Given the description of an element on the screen output the (x, y) to click on. 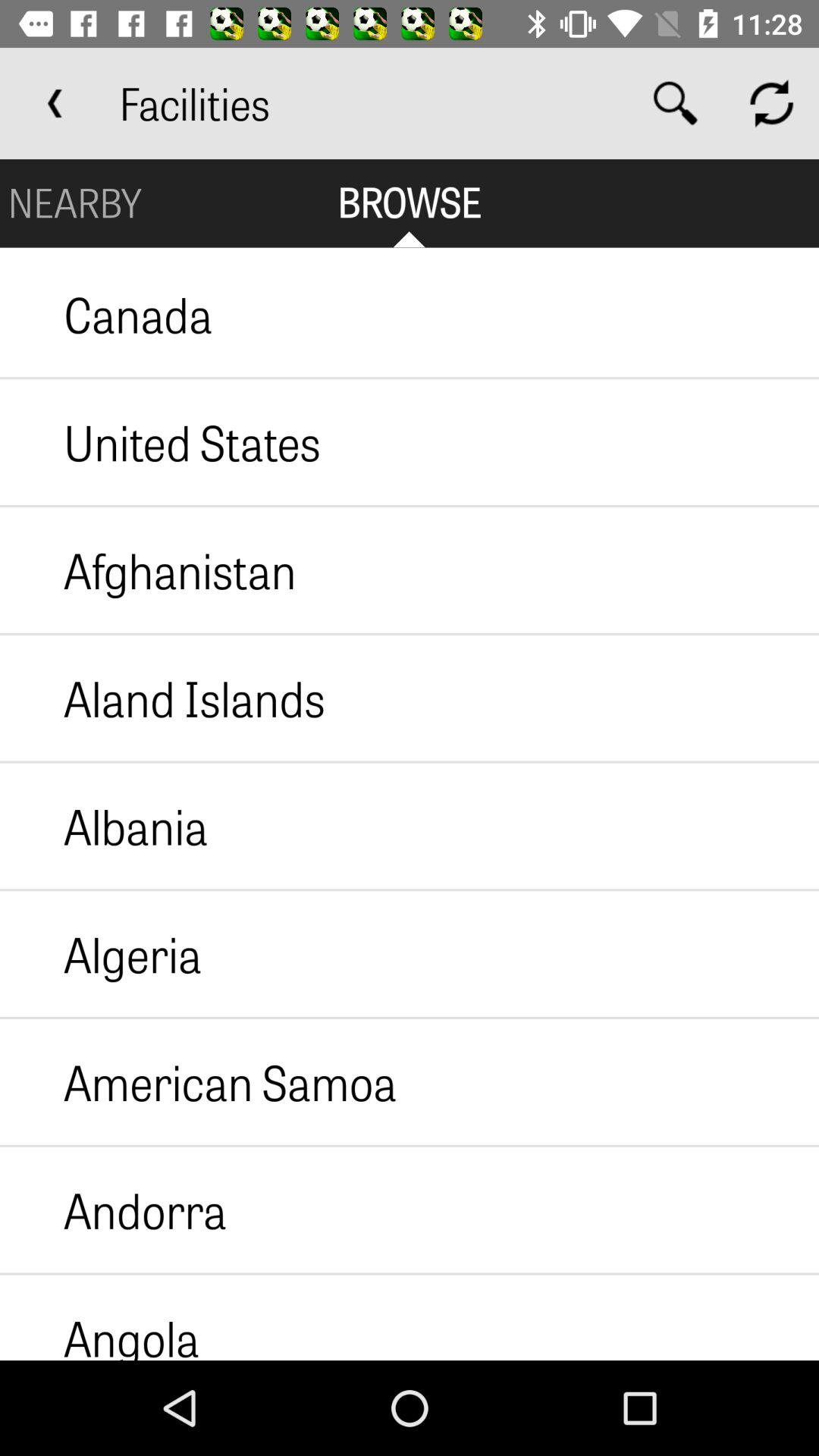
turn on the icon below the canada (160, 442)
